Given the description of an element on the screen output the (x, y) to click on. 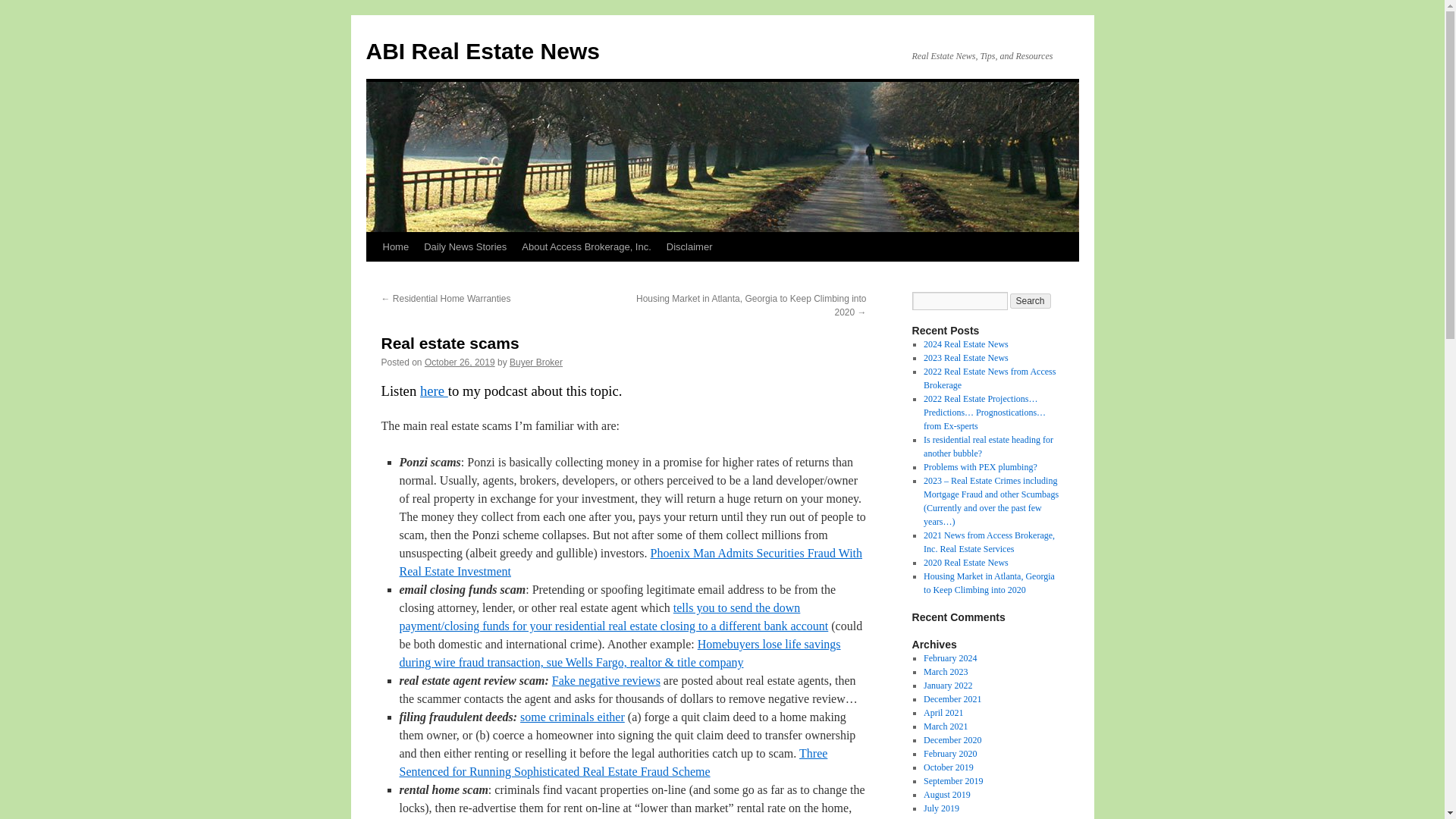
Is residential real estate heading for another bubble? (987, 446)
February 2024 (949, 657)
October 26, 2019 (460, 362)
Search (1030, 300)
ABI Real Estate News (481, 50)
some criminals either (571, 716)
View all posts by Buyer Broker (535, 362)
Buyer Broker (535, 362)
2020 Real Estate News (966, 562)
Fake negative reviews (606, 680)
2022 Real Estate News from Access Brokerage (989, 378)
2021 News from Access Brokerage, Inc. Real Estate Services (988, 541)
Search (1030, 300)
10:02 am (460, 362)
